Given the description of an element on the screen output the (x, y) to click on. 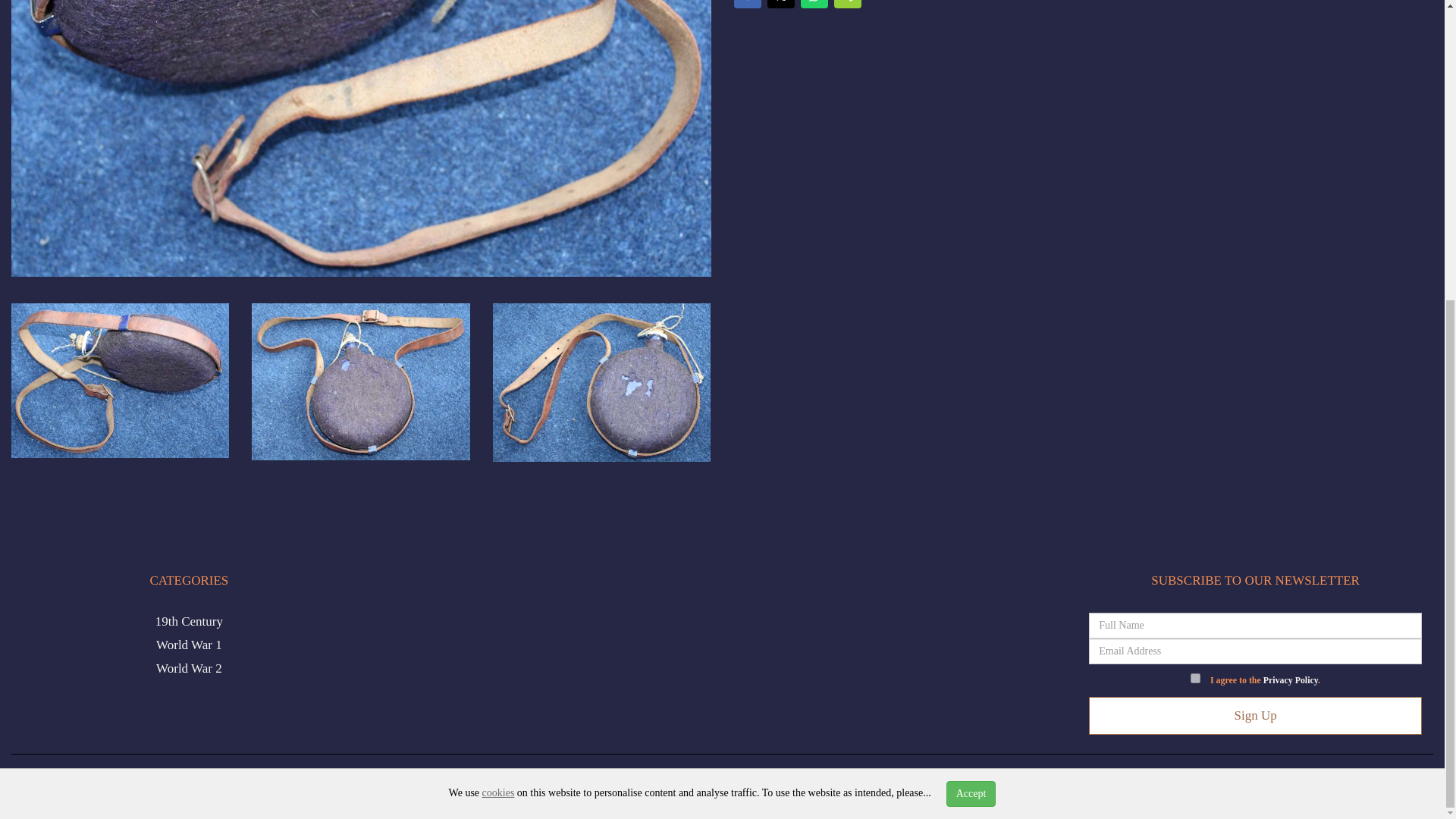
19th Century (188, 621)
Militaria (83, 781)
cookies (498, 326)
on (1195, 678)
Accept (970, 327)
Privacy (702, 781)
Terms (745, 781)
Privacy Policy (1290, 679)
Sign Up (1255, 715)
World War 2 (188, 667)
World War 1 (188, 644)
